Given the description of an element on the screen output the (x, y) to click on. 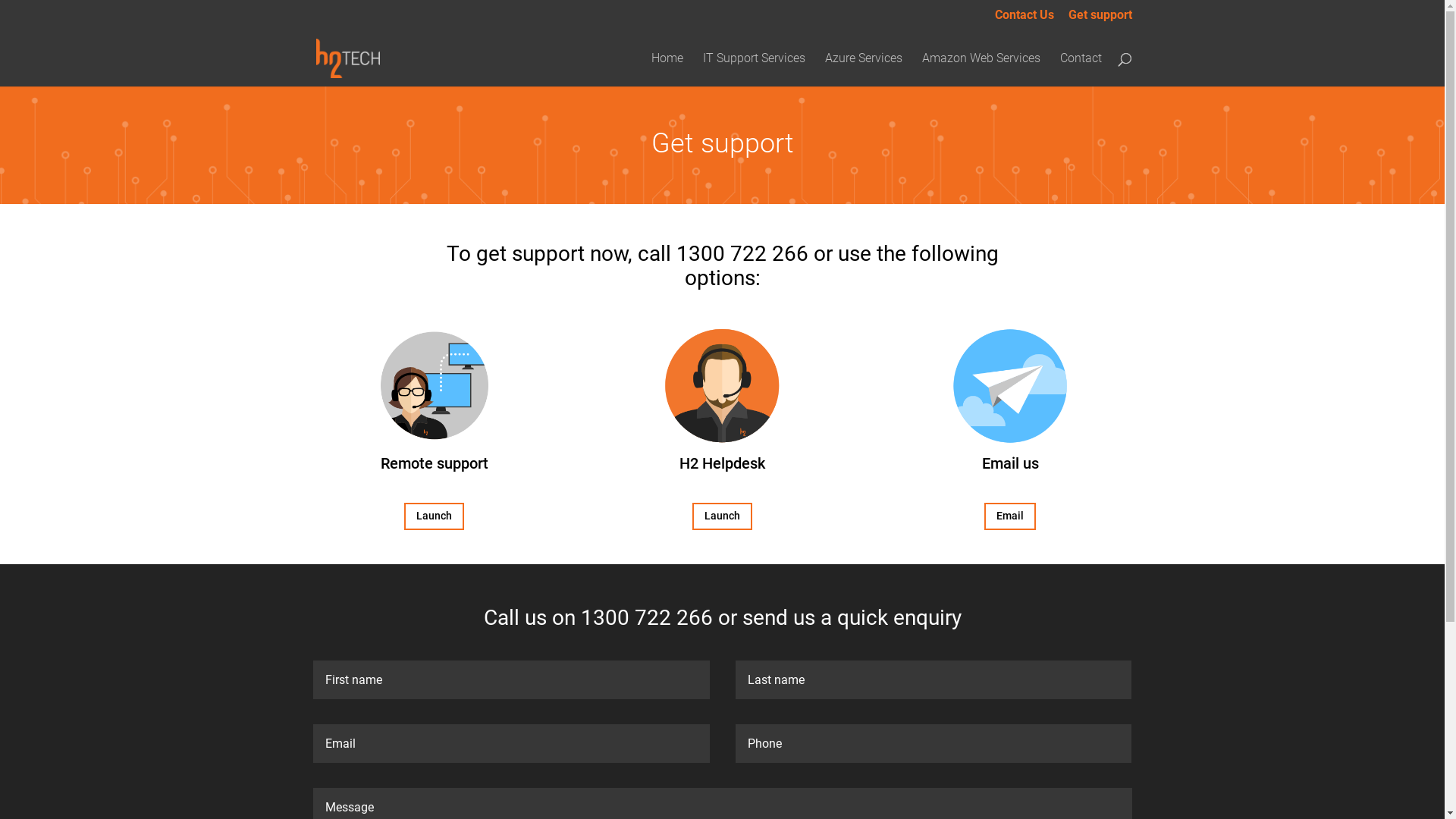
Contact Element type: text (1080, 69)
Launch Element type: text (722, 516)
Azure Services Element type: text (863, 69)
Contact Us Element type: text (1024, 19)
1300 722 266 Element type: text (742, 253)
Get support Element type: text (1099, 19)
Amazon Web Services Element type: text (981, 69)
Only letters allowed. Element type: hover (511, 679)
Launch Element type: text (434, 516)
Only letters allowed. Element type: hover (933, 679)
Email Element type: text (1009, 516)
Home Element type: text (666, 69)
IT Support Services Element type: text (753, 69)
